Given the description of an element on the screen output the (x, y) to click on. 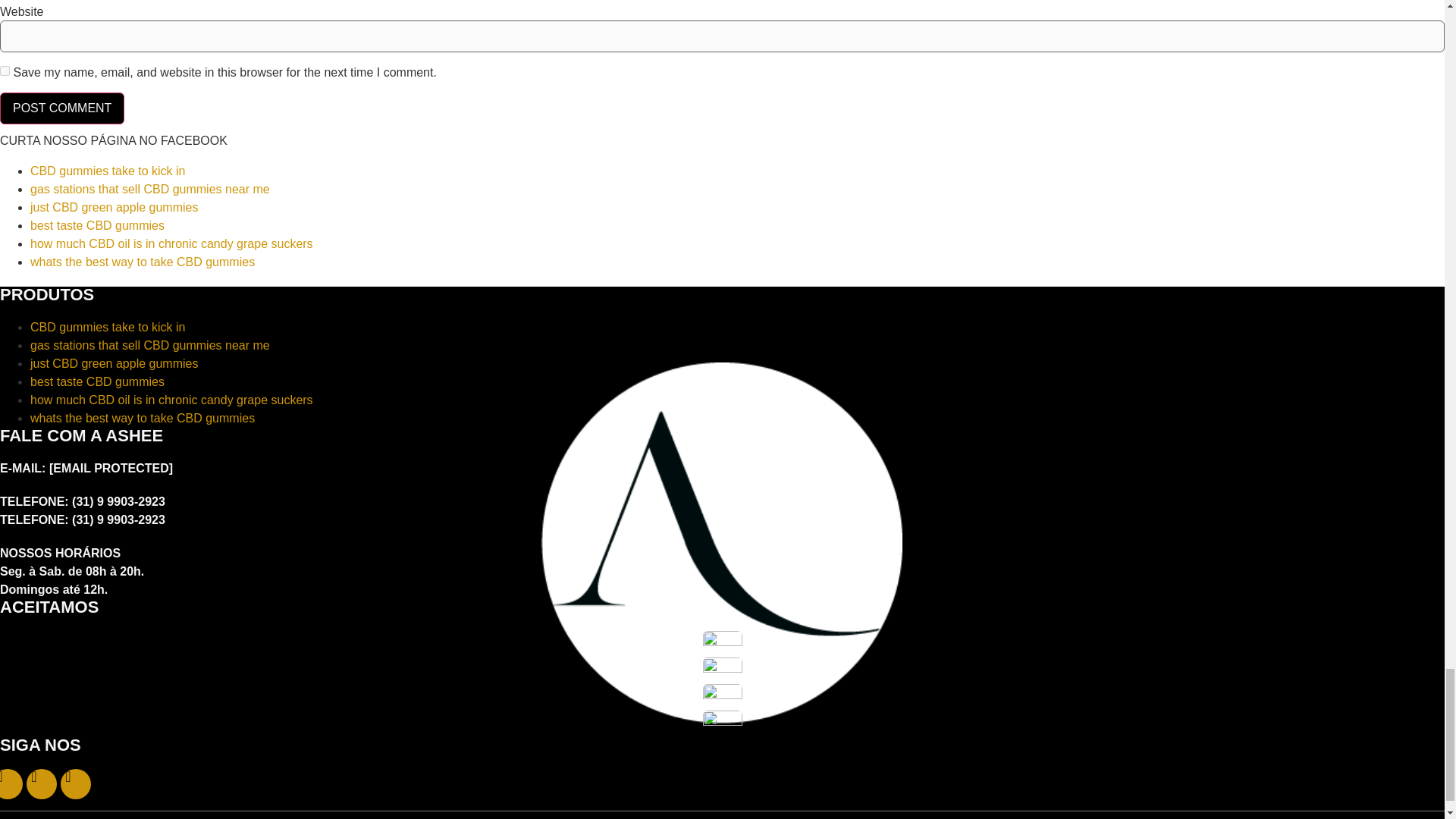
CBD gummies take to kick in (108, 327)
yes (5, 71)
whats the best way to take CBD gummies (142, 261)
best taste CBD gummies (97, 381)
gas stations that sell CBD gummies near me (149, 345)
just CBD green apple gummies (114, 363)
how much CBD oil is in chronic candy grape suckers (171, 243)
best taste CBD gummies (97, 225)
just CBD green apple gummies (114, 206)
gas stations that sell CBD gummies near me (149, 188)
CBD gummies take to kick in (108, 170)
Post Comment (61, 108)
Post Comment (61, 108)
